Given the description of an element on the screen output the (x, y) to click on. 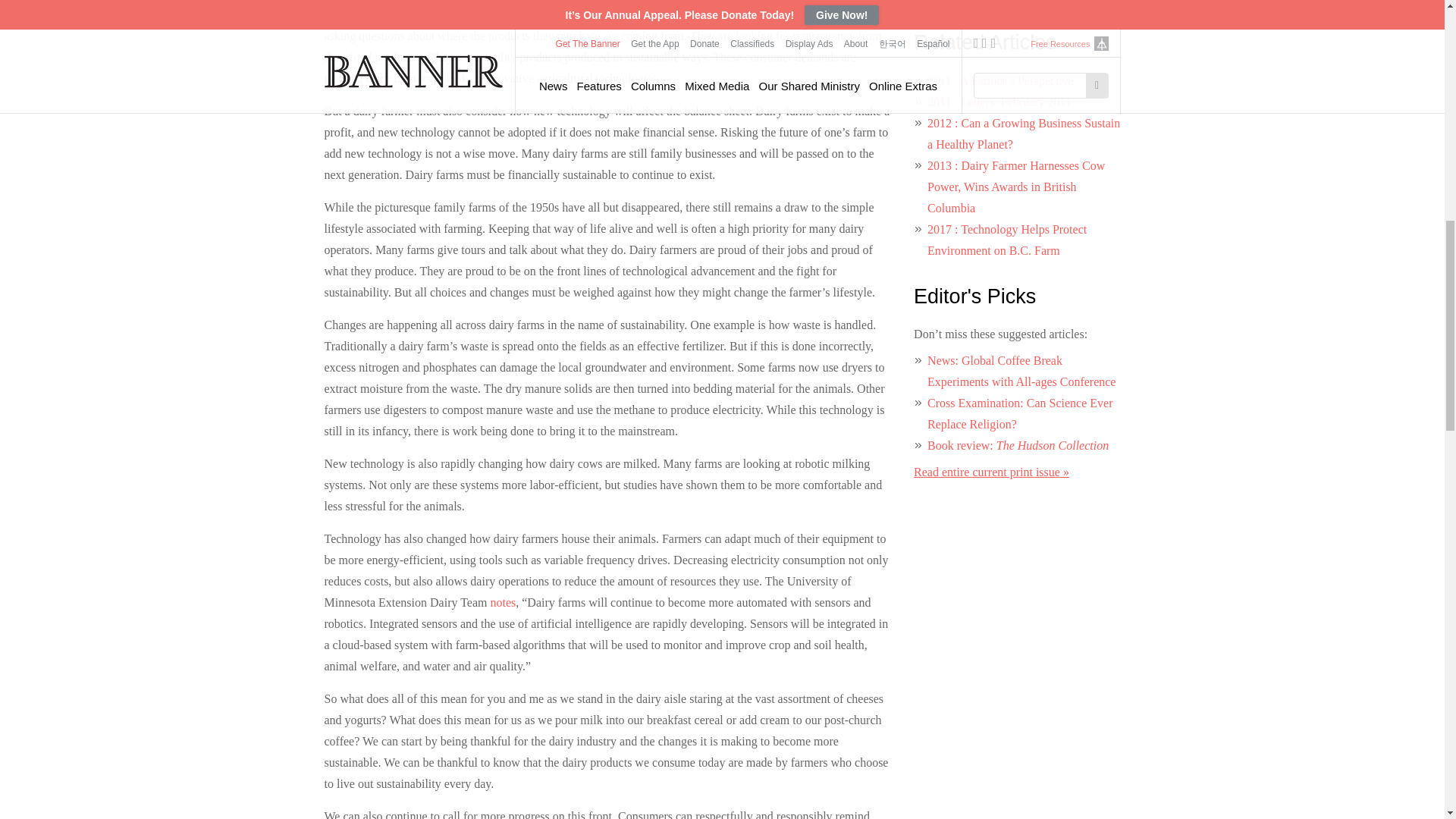
Book review: The Hudson Collection (1017, 445)
2012 : Can a Growing Business Sustain a Healthy Planet? (1023, 133)
2017 : Technology Helps Protect Environment on B.C. Farm (1006, 239)
2011 : Letters: February 2011 (999, 101)
Cross Examination: Can Science Ever Replace Religion? (1019, 413)
notes (502, 602)
